Given the description of an element on the screen output the (x, y) to click on. 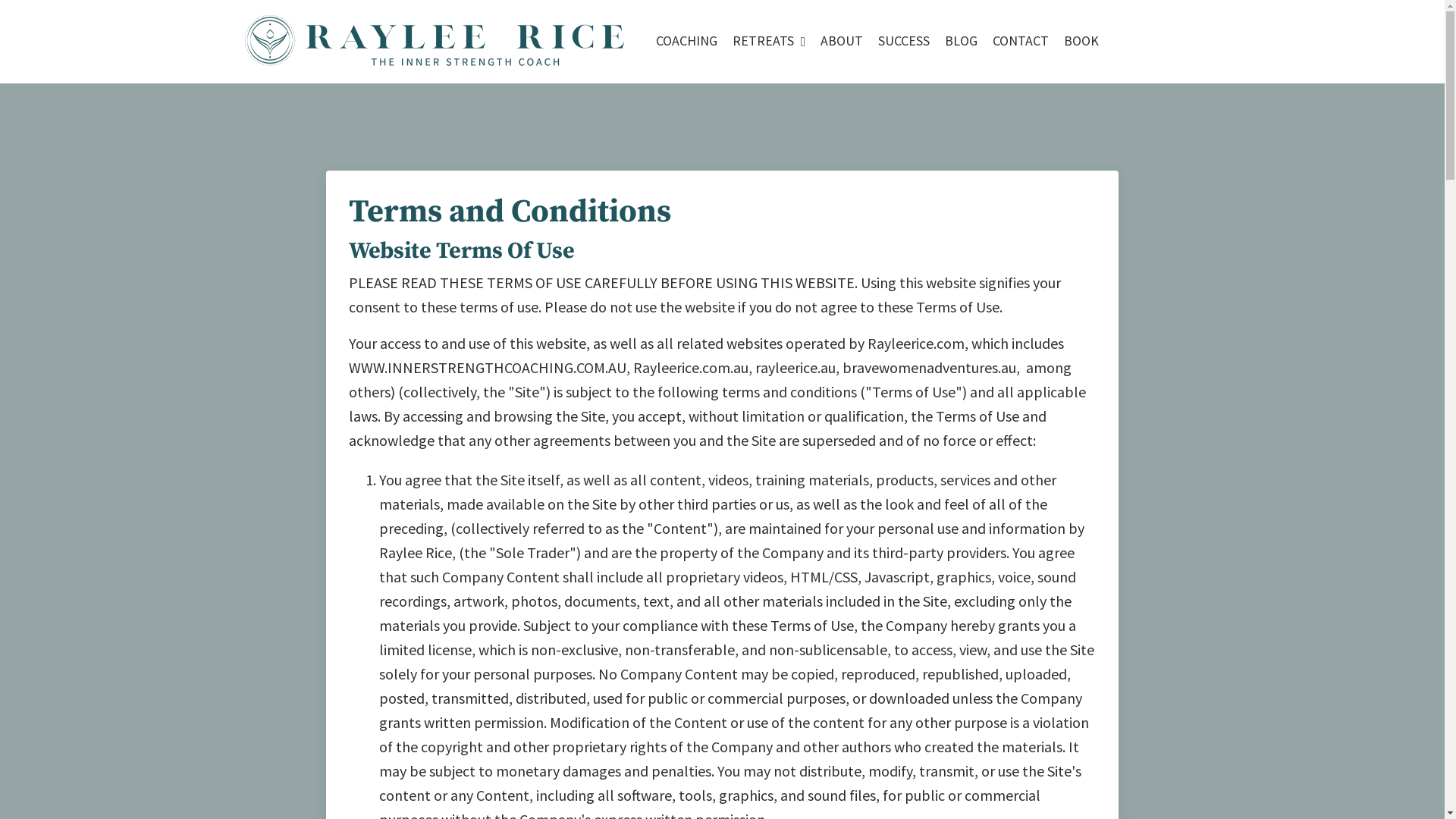
WWW.INNERSTRENGTHCOACHING.COM.AU Element type: text (487, 366)
SUCCESS Element type: text (903, 41)
ABOUT Element type: text (841, 41)
CONTACT Element type: text (1020, 41)
BLOG Element type: text (960, 41)
COACHING Element type: text (686, 41)
BOOK Element type: text (1080, 41)
RETREATS Element type: text (769, 41)
